Given the description of an element on the screen output the (x, y) to click on. 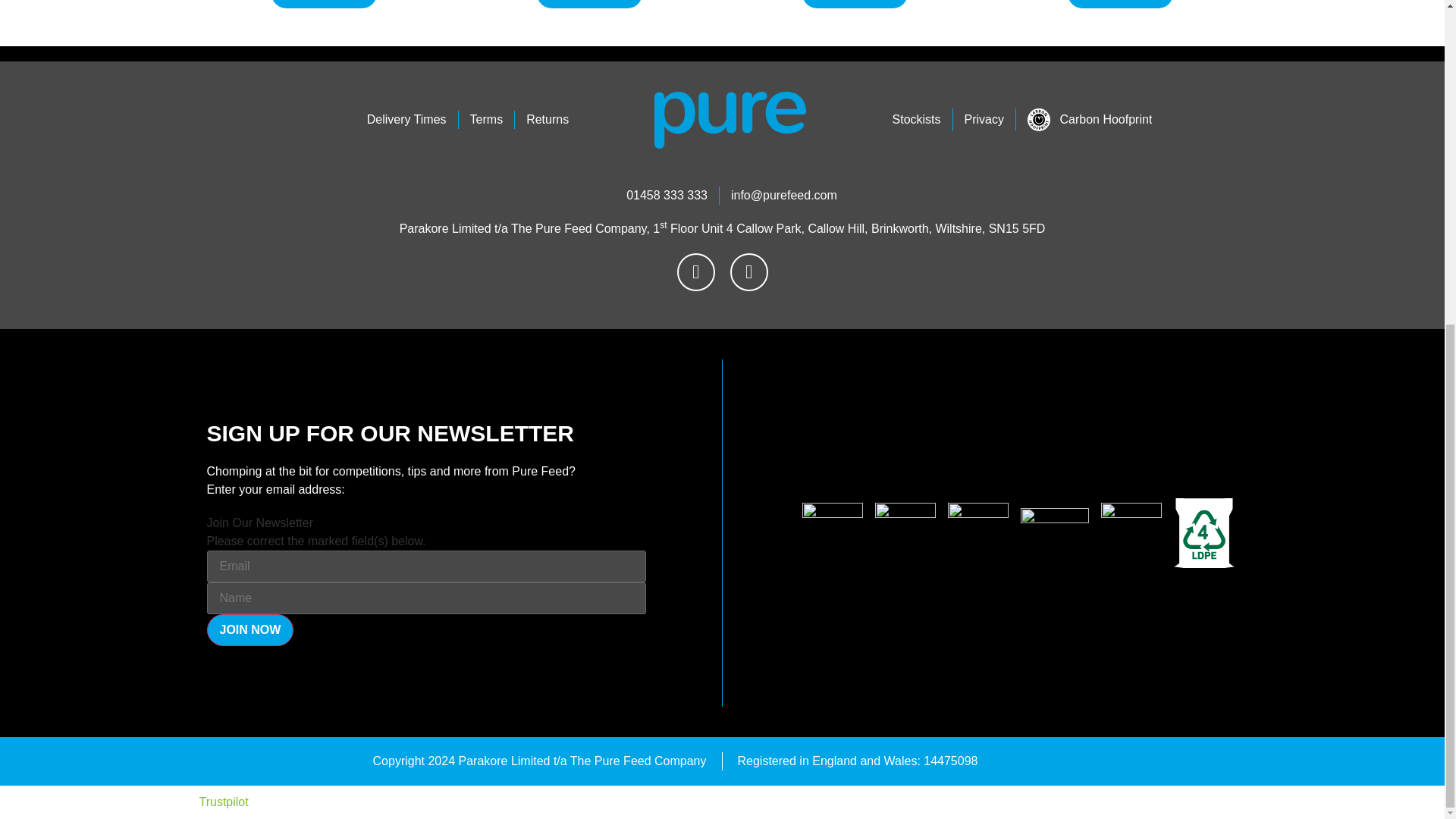
Join Now (250, 630)
